Given the description of an element on the screen output the (x, y) to click on. 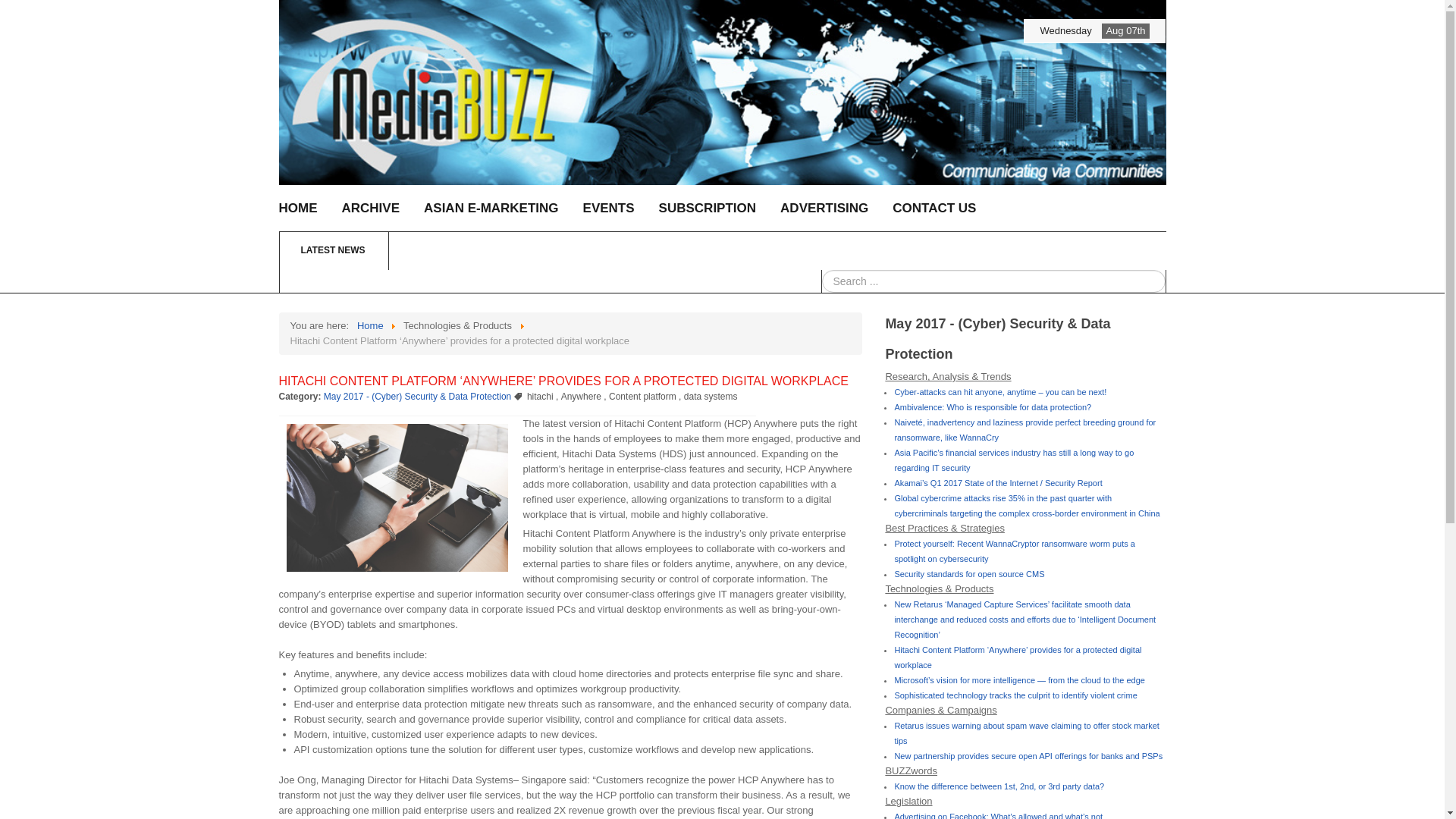
ARCHIVE (369, 207)
LATEST NEWS (564, 250)
Search ... (994, 281)
